Given the description of an element on the screen output the (x, y) to click on. 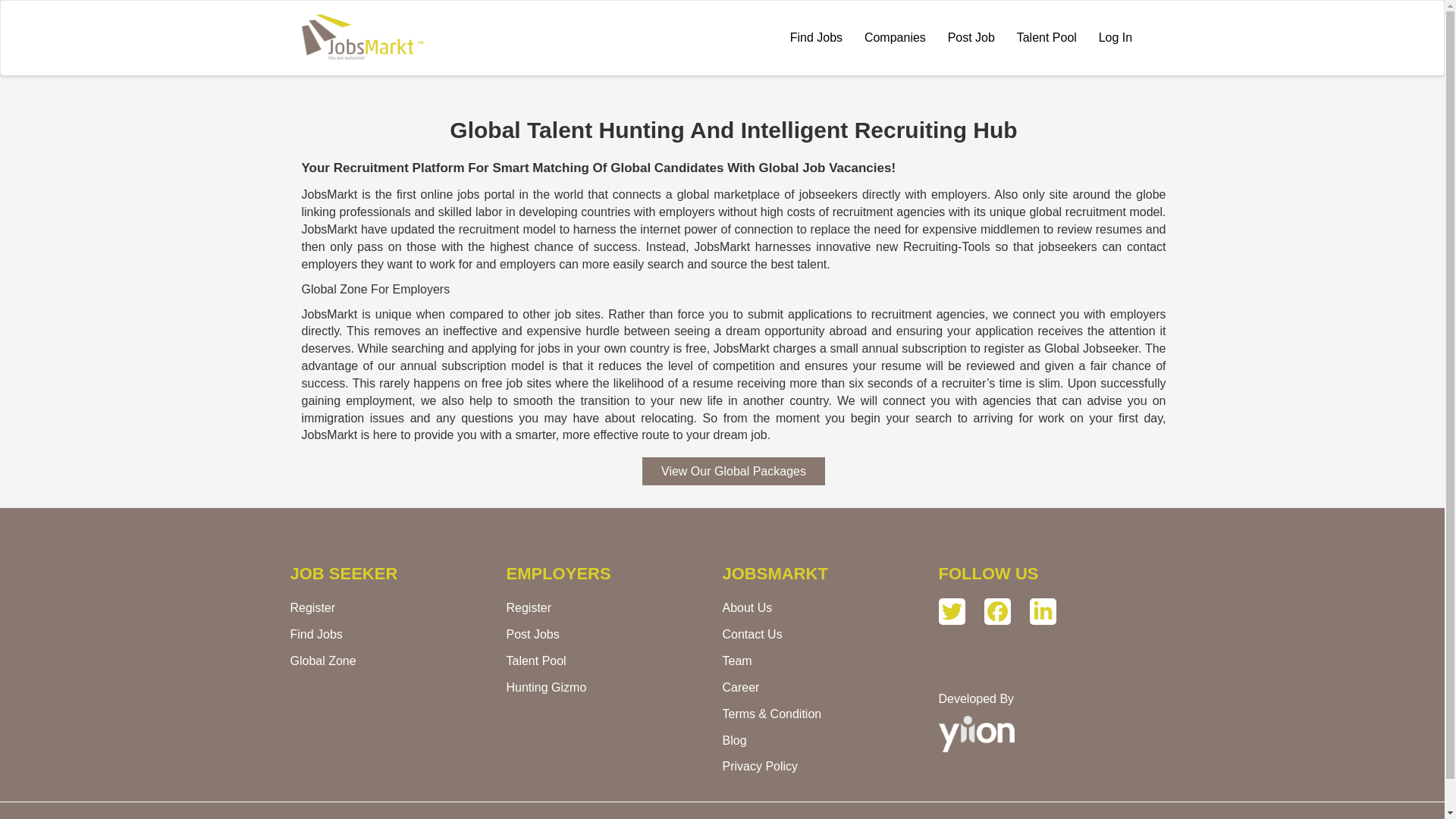
Home (367, 37)
Talent Pool  (538, 660)
Contact Us (751, 634)
Companies (895, 37)
Find Jobs (315, 634)
View Our Global Packages (733, 471)
Global Zone (322, 660)
Find Jobs (815, 37)
Hunting Gizmo (546, 686)
Team (736, 660)
Career (740, 686)
Post Job (971, 37)
Post Jobs (532, 634)
Log In (1114, 37)
